Given the description of an element on the screen output the (x, y) to click on. 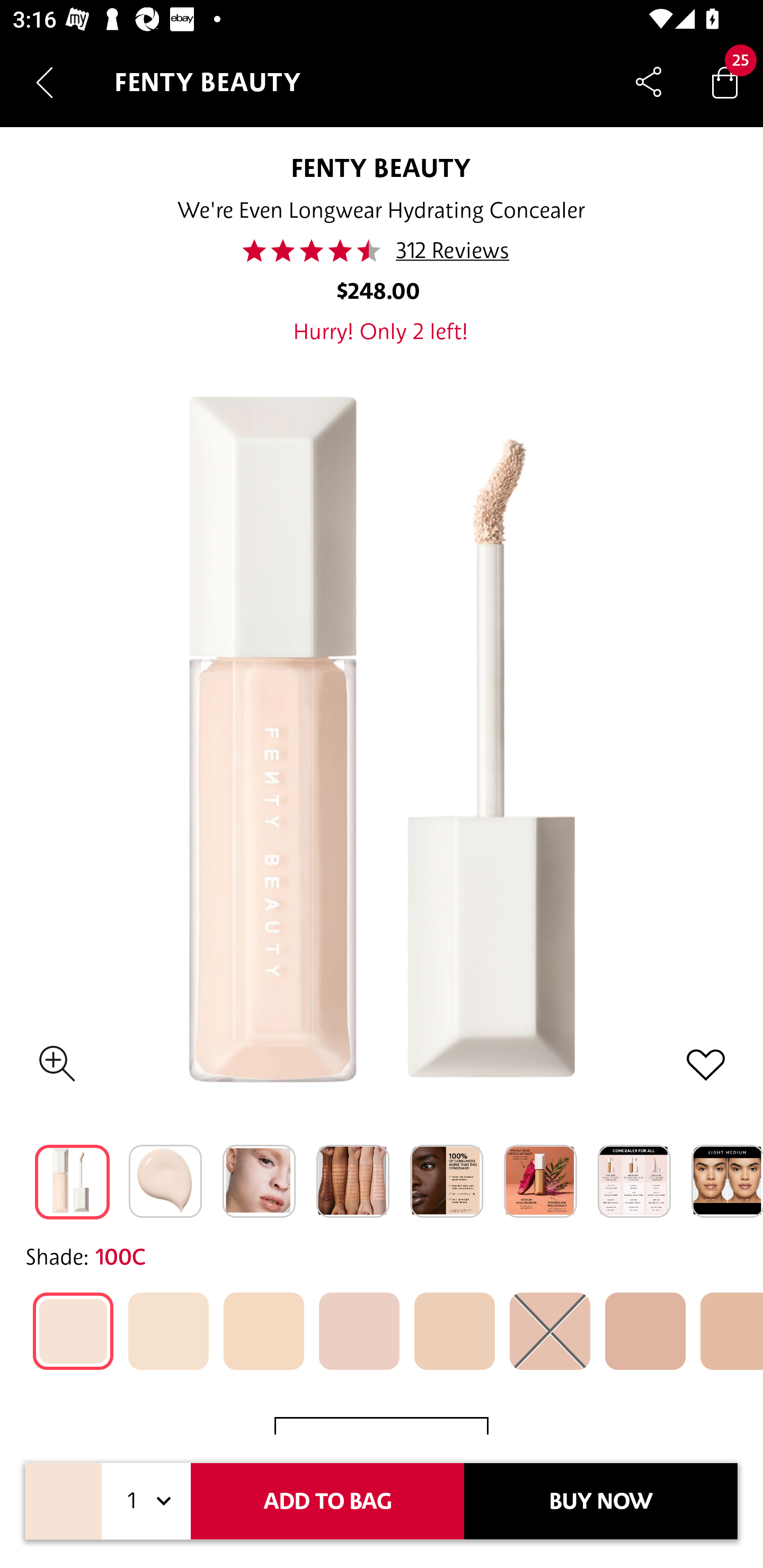
Navigate up (44, 82)
Share (648, 81)
Bag (724, 81)
FENTY BEAUTY (380, 167)
45.0 312 Reviews (381, 250)
1 (145, 1500)
ADD TO BAG (326, 1500)
BUY NOW (600, 1500)
